Given the description of an element on the screen output the (x, y) to click on. 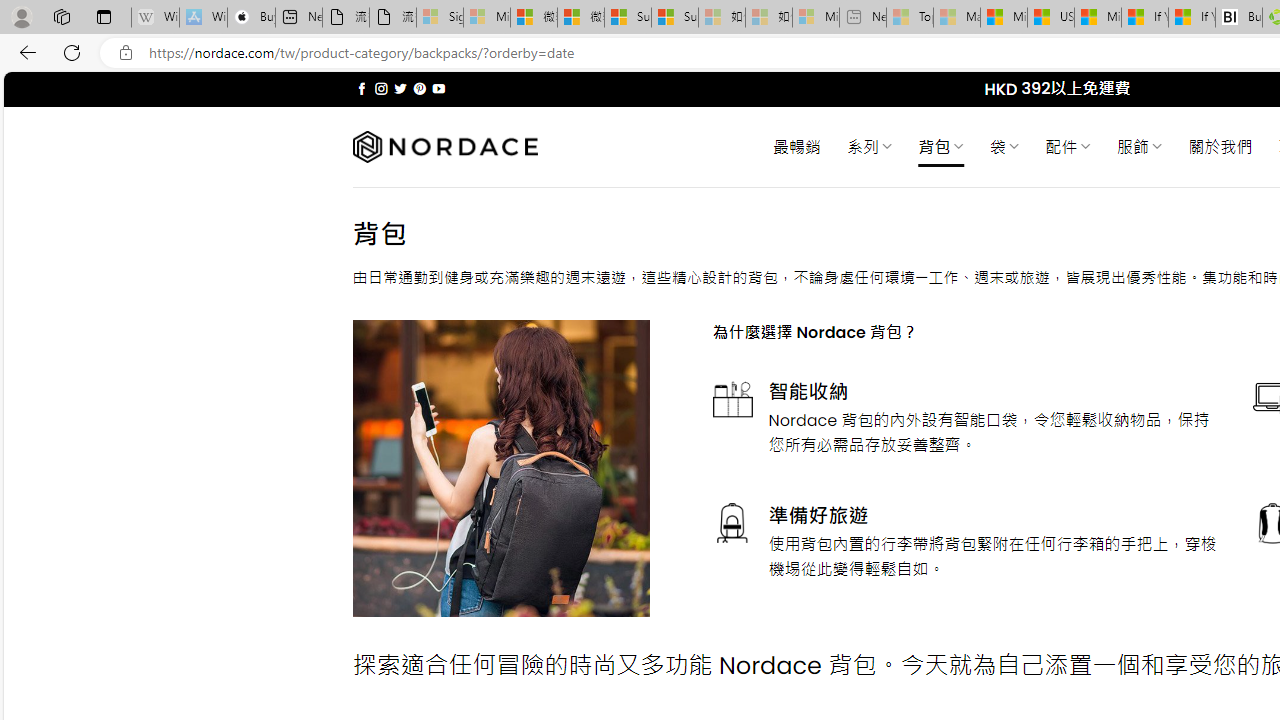
Microsoft account | Account Checkup - Sleeping (815, 17)
Follow on Instagram (381, 88)
Top Stories - MSN - Sleeping (910, 17)
